Given the description of an element on the screen output the (x, y) to click on. 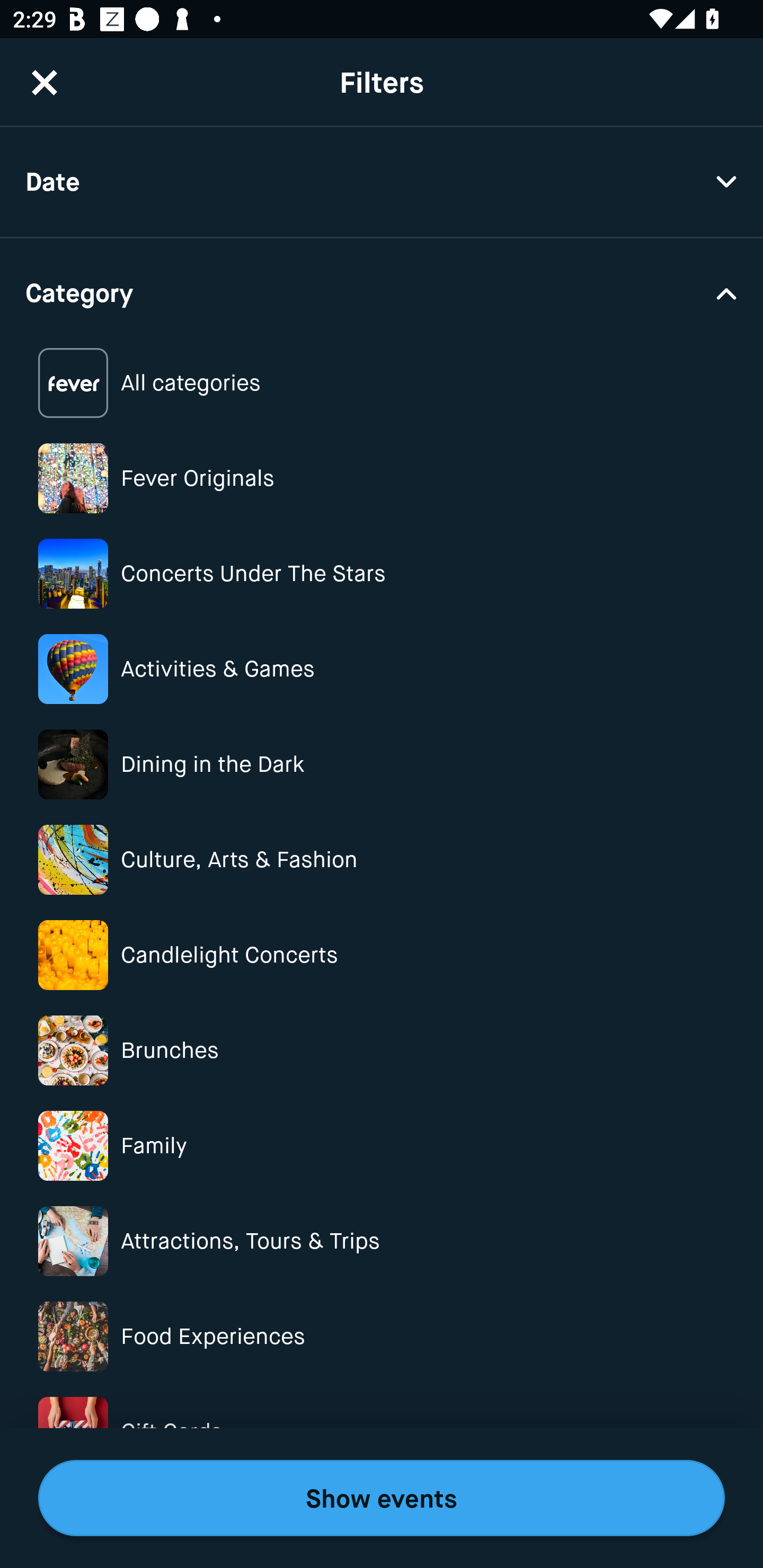
CloseButton (44, 82)
Date Drop Down Arrow (381, 182)
Category Drop Down Arrow (381, 291)
Category Image All categories (381, 382)
Category Image Fever Originals (381, 477)
Category Image Concerts Under The Stars (381, 573)
Category Image Activities & Games (381, 668)
Category Image Dining in the Dark (381, 763)
Category Image Culture, Arts & Fashion (381, 859)
Category Image Candlelight Concerts (381, 954)
Category Image Brunches (381, 1050)
Category Image Family (381, 1145)
Category Image Attractions, Tours & Trips (381, 1240)
Category Image Food Experiences (381, 1336)
Show events (381, 1497)
